Given the description of an element on the screen output the (x, y) to click on. 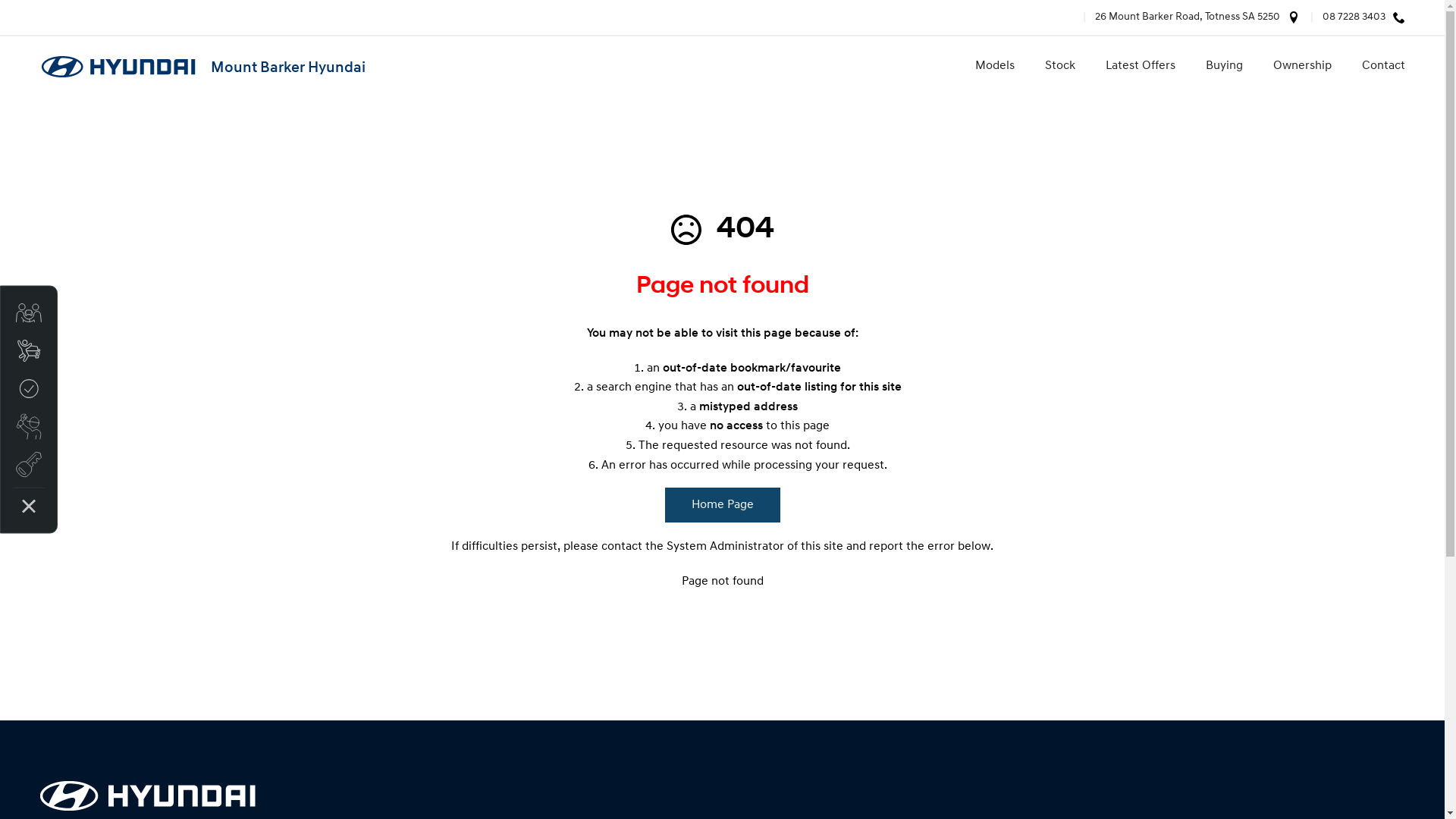
Contact Element type: text (1375, 66)
Buying Element type: text (1224, 66)
08 7228 3403 Element type: text (1347, 17)
26 Mount Barker Road, Totness SA 5250 Element type: text (1180, 17)
Latest Offers Element type: text (1140, 66)
Stock Element type: text (1059, 66)
Home Page Element type: text (721, 504)
Ownership Element type: text (1301, 66)
Models Element type: text (994, 66)
Mount Barker Hyundai Element type: text (201, 66)
